Given the description of an element on the screen output the (x, y) to click on. 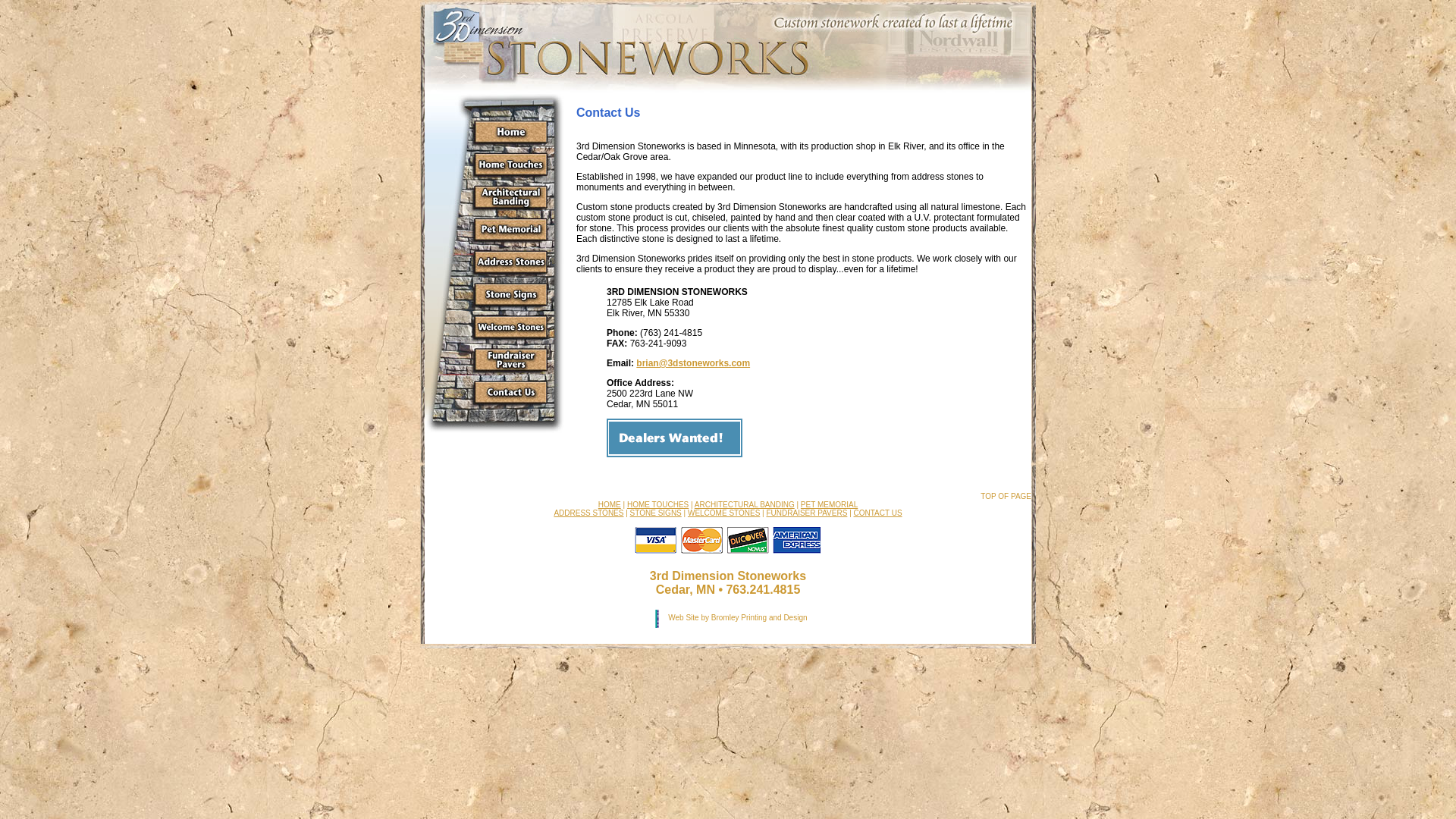
WELCOME STONES Element type: text (723, 512)
TOP OF PAGE Element type: text (1005, 496)
brian@3dstoneworks.com Element type: text (692, 362)
FUNDRAISER PAVERS Element type: text (806, 512)
CONTACT US Element type: text (877, 512)
Web Site by Bromley Printing and Design Element type: text (737, 617)
HOME TOUCHES Element type: text (657, 504)
PET MEMORIAL Element type: text (828, 504)
ADDRESS STONES Element type: text (705, 516)
STONE SIGNS Element type: text (655, 512)
HOME Element type: text (609, 504)
ARCHITECTURAL BANDING Element type: text (744, 504)
